Given the description of an element on the screen output the (x, y) to click on. 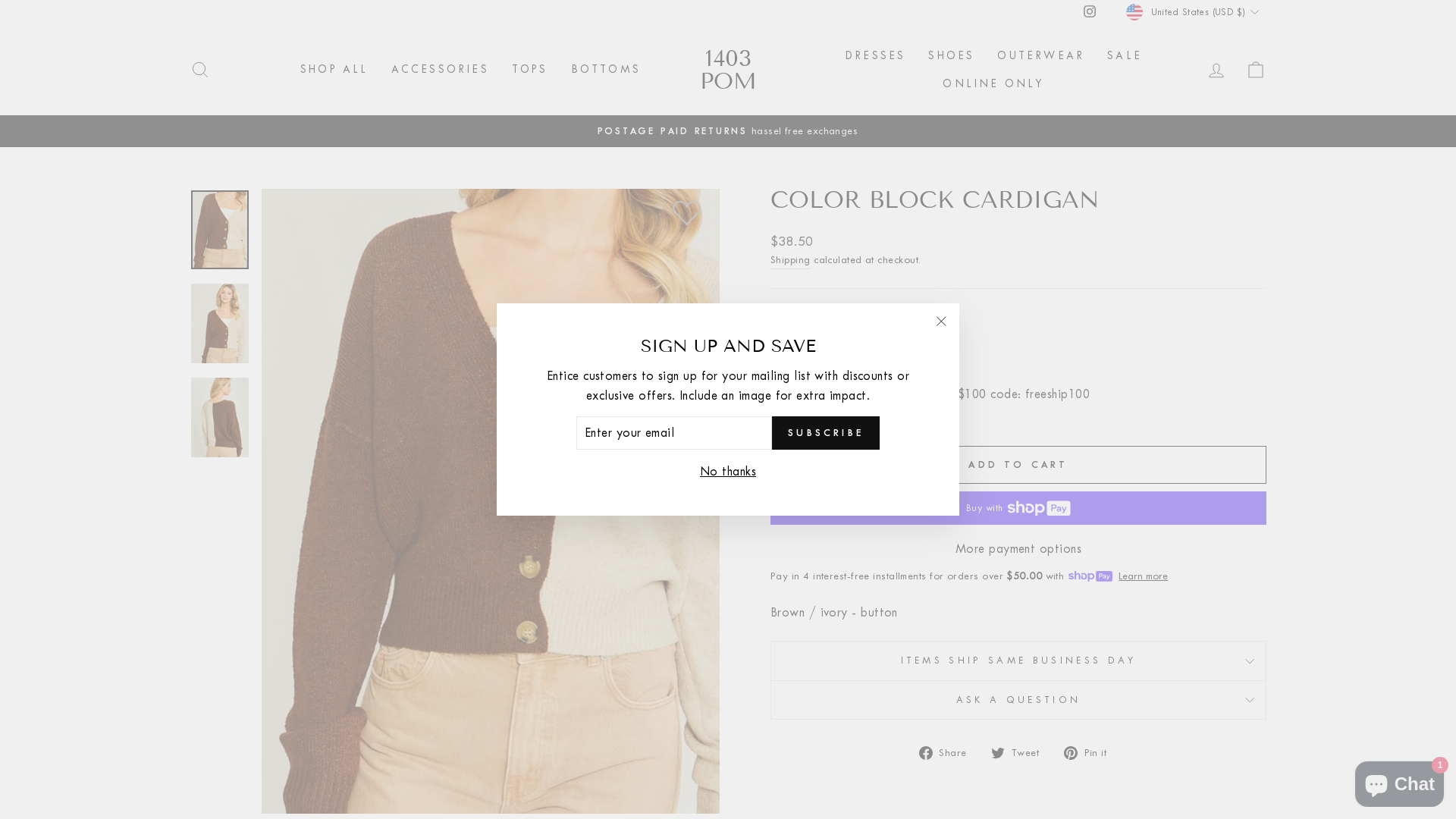
No thanks Element type: text (727, 471)
ASK A QUESTION Element type: text (1018, 699)
Skip to content Element type: text (0, 0)
More payment options Element type: text (1018, 548)
TOPS Element type: text (529, 70)
ITEMS SHIP SAME BUSINESS DAY Element type: text (1018, 659)
SEARCH Element type: text (199, 69)
1403 POM Element type: text (727, 69)
DRESSES Element type: text (874, 55)
SHOES Element type: text (950, 55)
LOG IN Element type: text (1216, 69)
Shipping Element type: text (790, 259)
ONLINE ONLY Element type: text (992, 83)
OUTERWEAR Element type: text (1040, 55)
SHOP ALL Element type: text (333, 70)
ADD TO CART Element type: text (1018, 464)
Shopify online store chat Element type: hover (1399, 780)
SALE Element type: text (1124, 55)
"Close (esc)" Element type: text (940, 321)
SUBSCRIBE Element type: text (825, 432)
CART Element type: text (1255, 69)
Pin it
Pin on Pinterest Element type: text (1090, 751)
BOTTOMS Element type: text (605, 70)
United States (USD $) Element type: text (1194, 12)
Instagram Element type: text (1089, 11)
Share
Share on Facebook Element type: text (948, 751)
ACCESSORIES Element type: text (439, 70)
Tweet
Tweet on Twitter Element type: text (1020, 751)
